Given the description of an element on the screen output the (x, y) to click on. 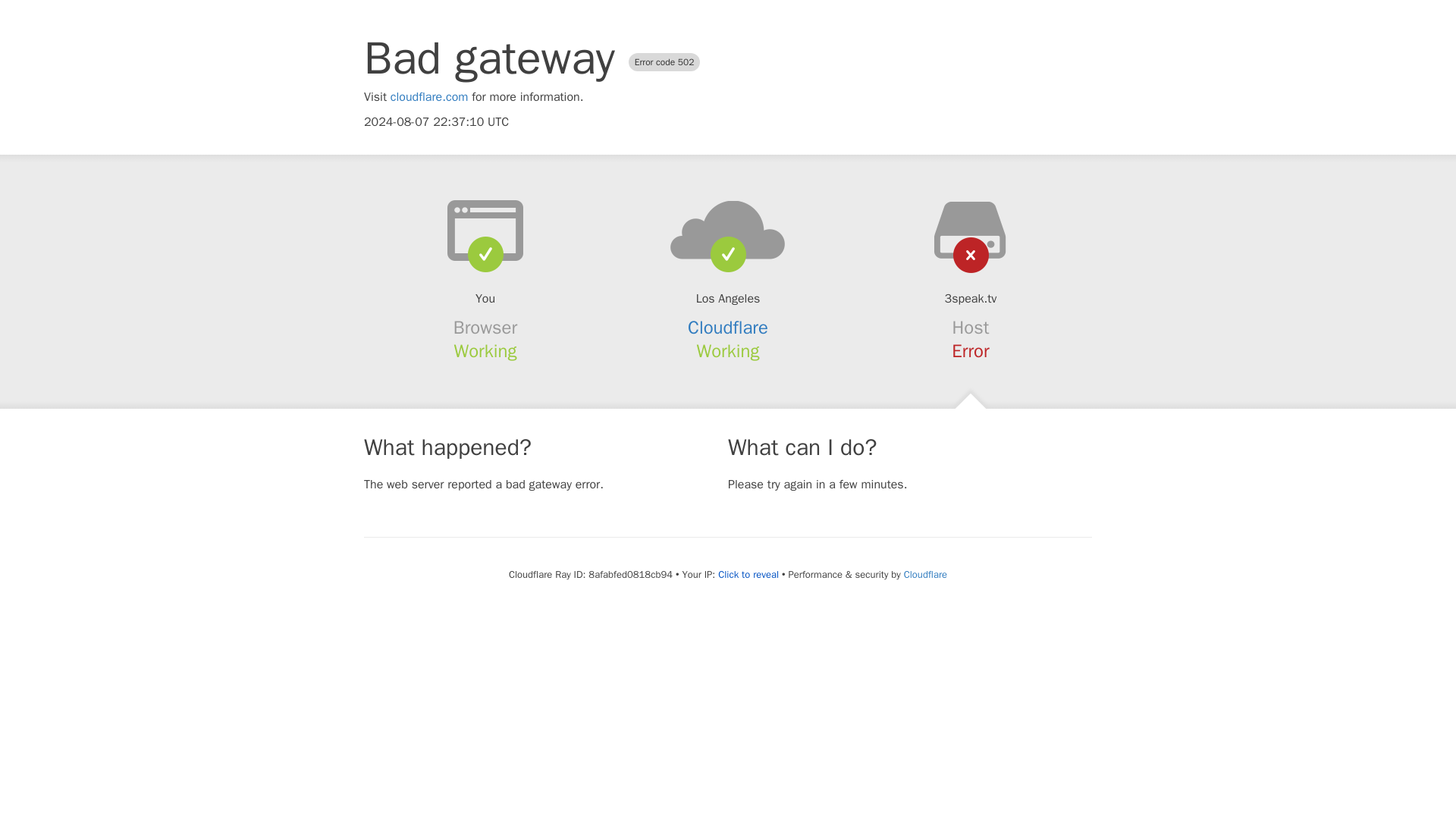
Click to reveal (747, 574)
cloudflare.com (429, 96)
Cloudflare (925, 574)
Cloudflare (727, 327)
